Given the description of an element on the screen output the (x, y) to click on. 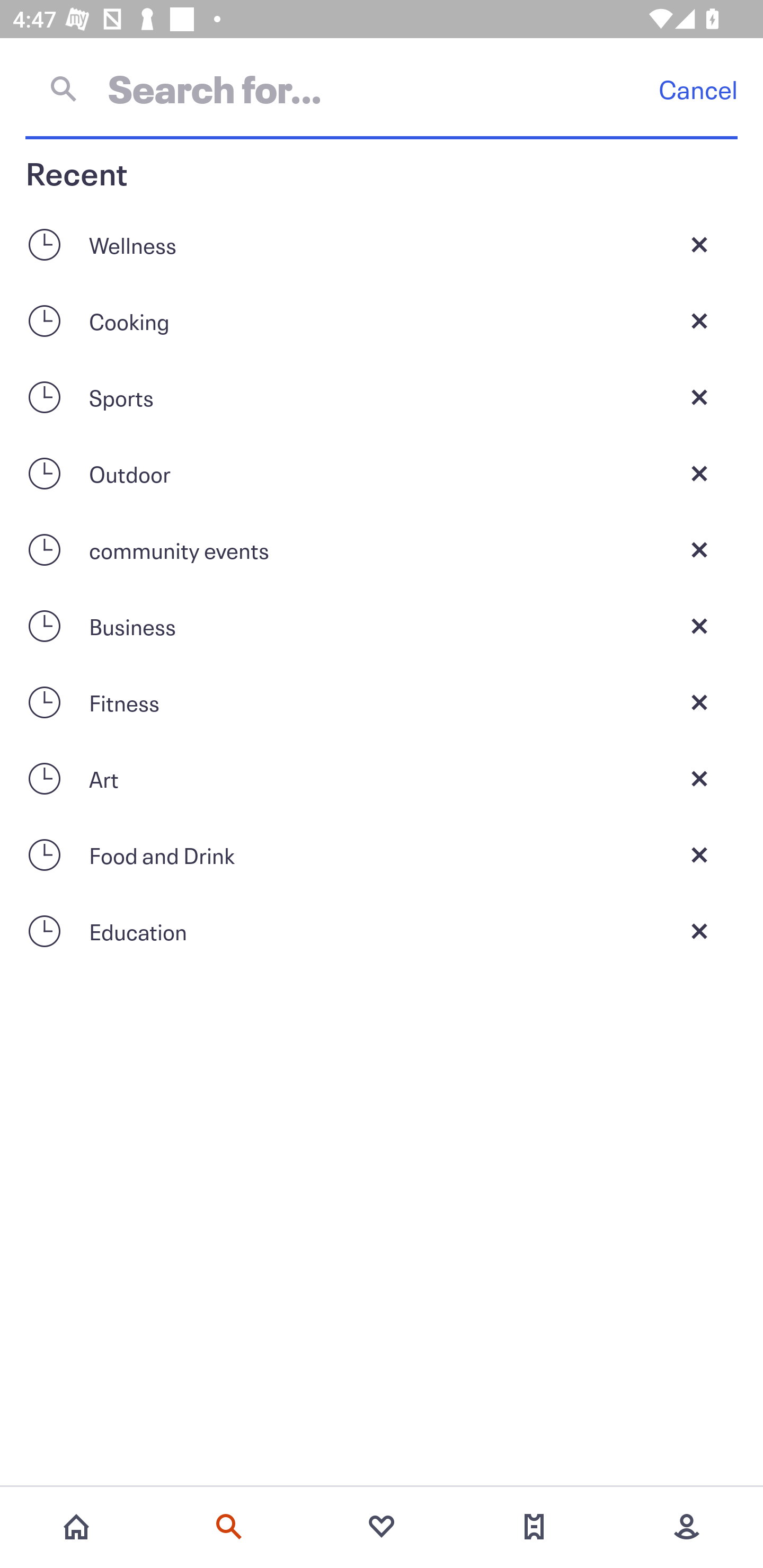
Cancel Search for… (381, 88)
Cancel (697, 89)
Wellness Close current screen (381, 244)
Close current screen (699, 244)
Cooking Close current screen (381, 320)
Close current screen (699, 320)
Sports Close current screen (381, 397)
Close current screen (699, 397)
Outdoor Close current screen (381, 473)
Close current screen (699, 473)
community events Close current screen (381, 549)
Close current screen (699, 549)
Business Close current screen (381, 626)
Close current screen (699, 626)
Fitness Close current screen (381, 702)
Close current screen (699, 702)
Art Close current screen (381, 778)
Close current screen (699, 778)
Food and Drink Close current screen (381, 854)
Close current screen (699, 854)
Education Close current screen (381, 931)
Close current screen (699, 931)
Home (76, 1526)
Search events (228, 1526)
Favorites (381, 1526)
Tickets (533, 1526)
More (686, 1526)
